Given the description of an element on the screen output the (x, y) to click on. 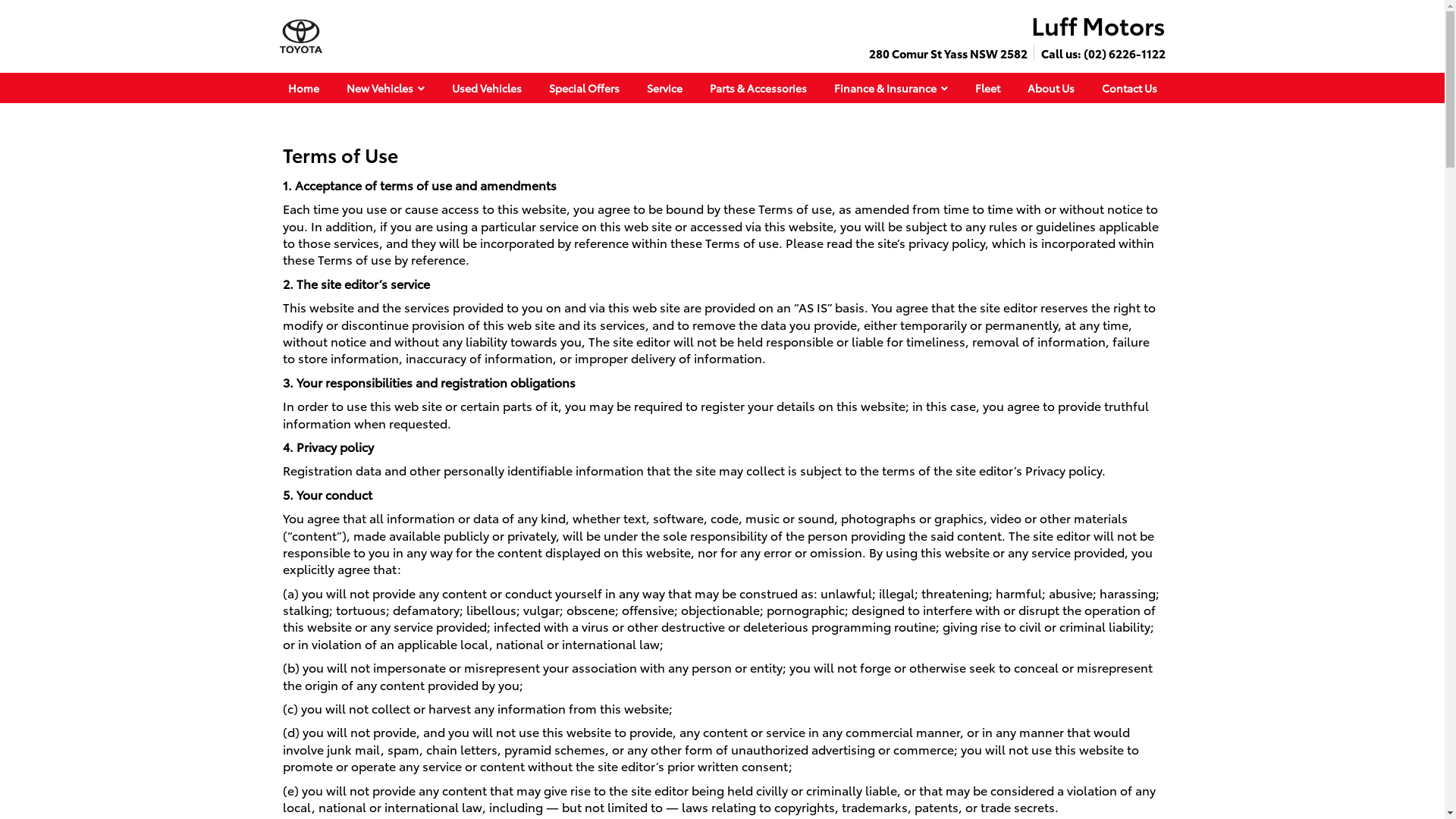
(02) 6226-1122 Element type: text (1123, 52)
Contact Us Element type: text (1128, 87)
Service Element type: text (663, 87)
Home Element type: text (303, 87)
About Us Element type: text (1050, 87)
Fleet Element type: text (987, 87)
Used Vehicles Element type: text (486, 87)
Finance & Insurance Element type: text (890, 87)
Parts & Accessories Element type: text (758, 87)
New Vehicles Element type: text (384, 87)
Special Offers Element type: text (584, 87)
